Given the description of an element on the screen output the (x, y) to click on. 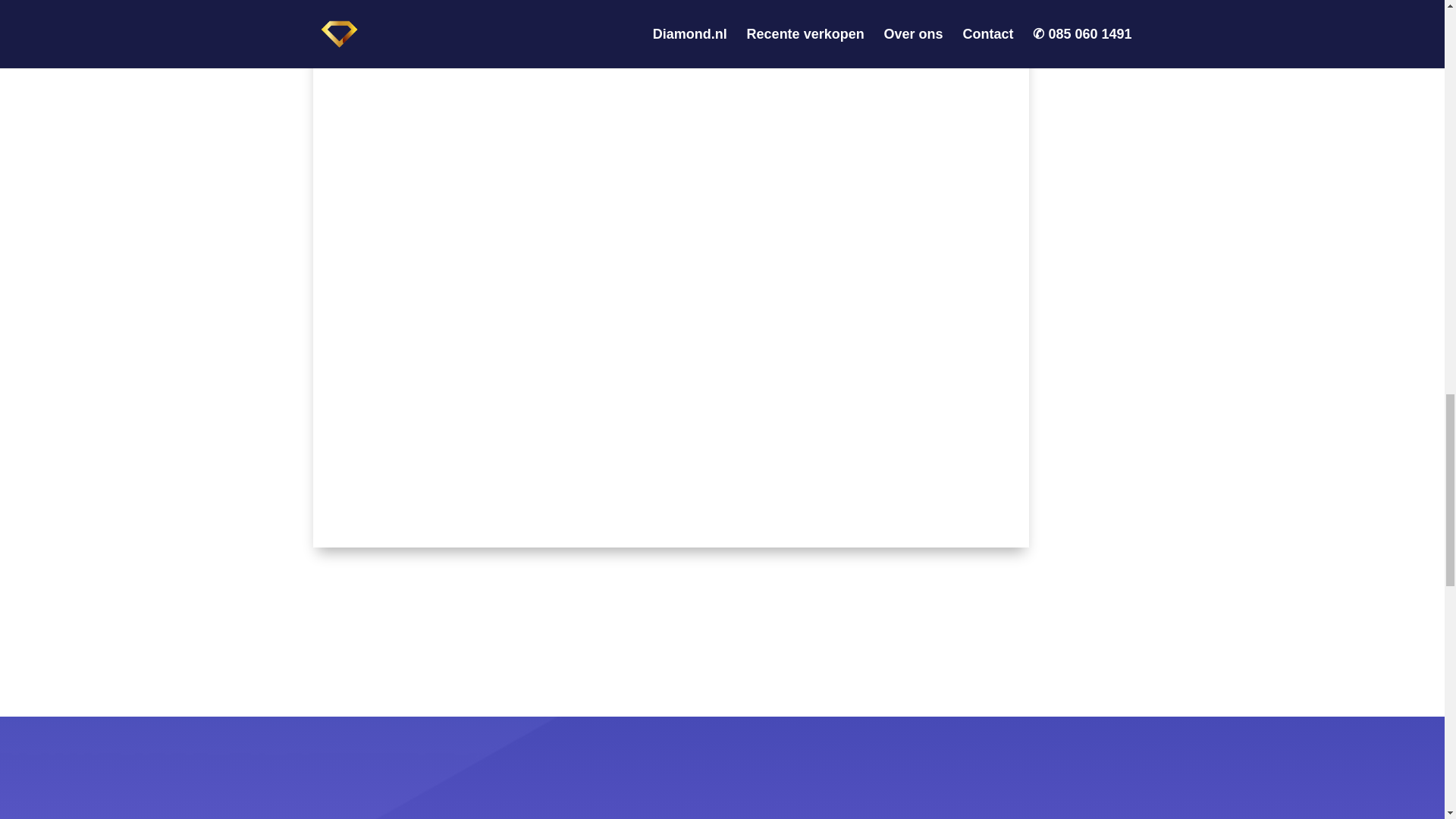
Type-in traffic futurecars.com (670, 543)
